Given the description of an element on the screen output the (x, y) to click on. 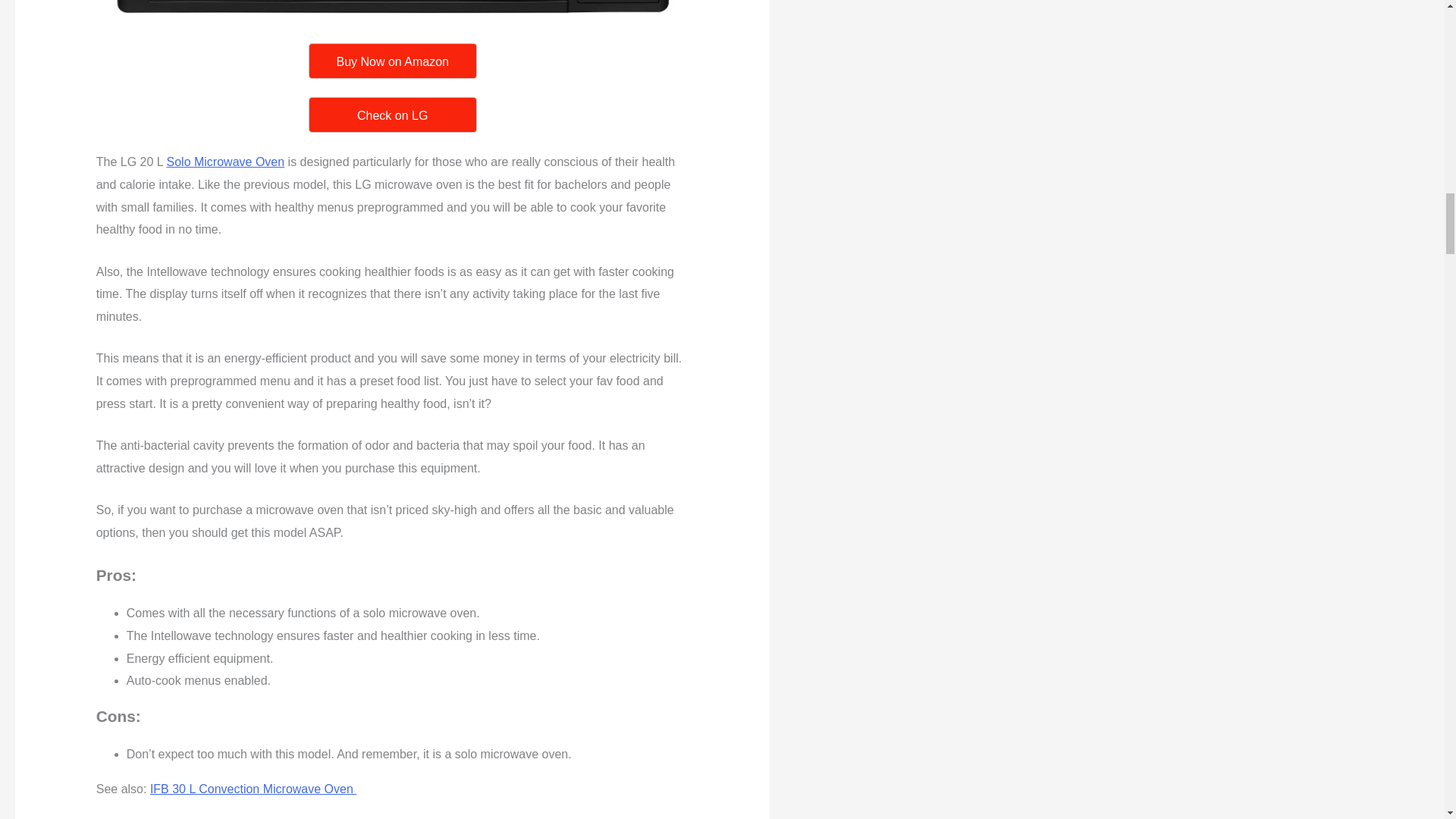
IFB 30 L Convection Microwave Oven  (252, 788)
Solo Microwave Oven (226, 161)
Buy Now on Amazon (392, 60)
Check on LG (392, 114)
